Given the description of an element on the screen output the (x, y) to click on. 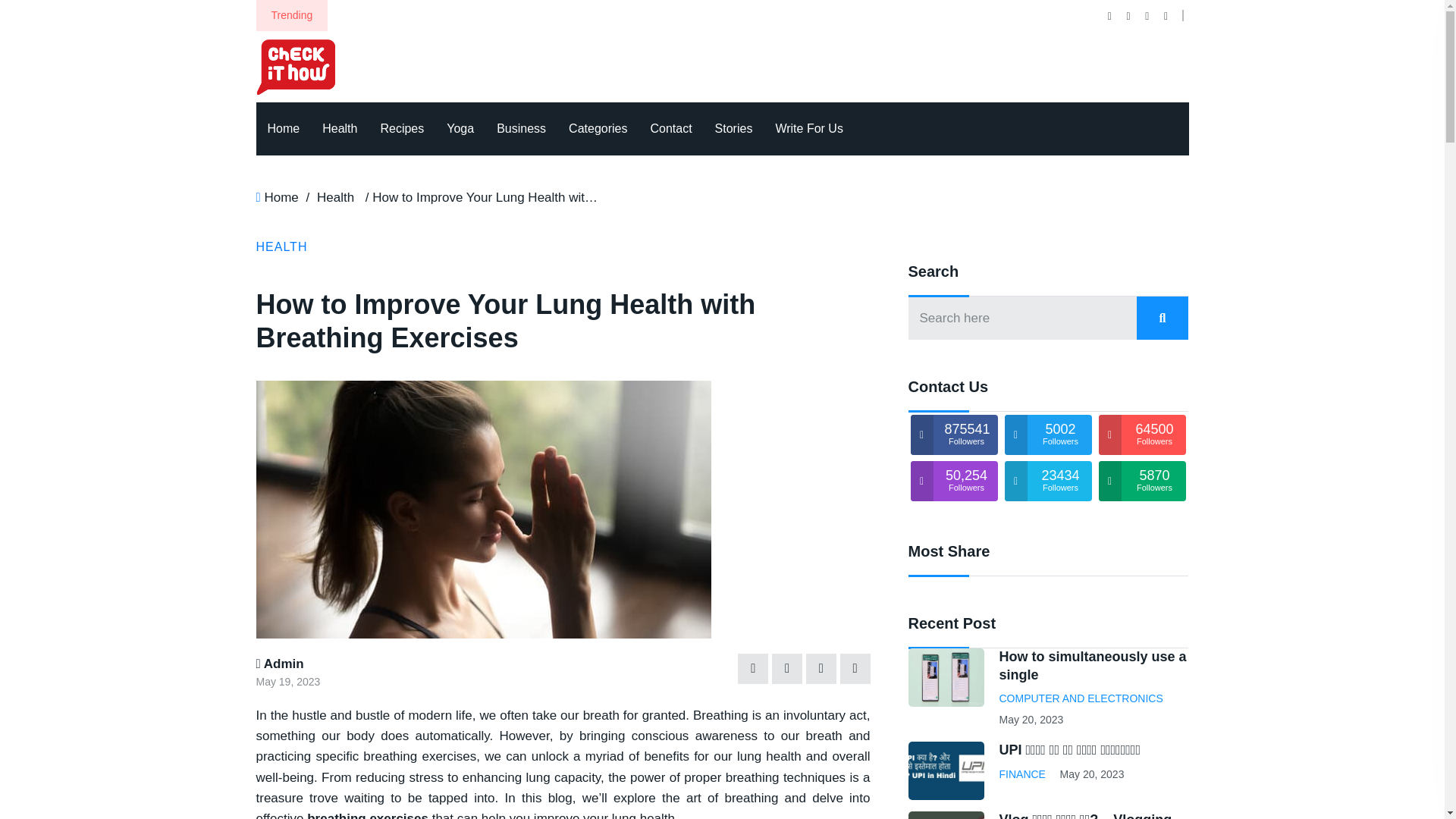
Yoga (459, 128)
Write For Us (807, 128)
Categories (598, 128)
Recipes (401, 128)
Stories (733, 128)
Health (339, 128)
Home (283, 128)
Contact (671, 128)
Business (520, 128)
